Given the description of an element on the screen output the (x, y) to click on. 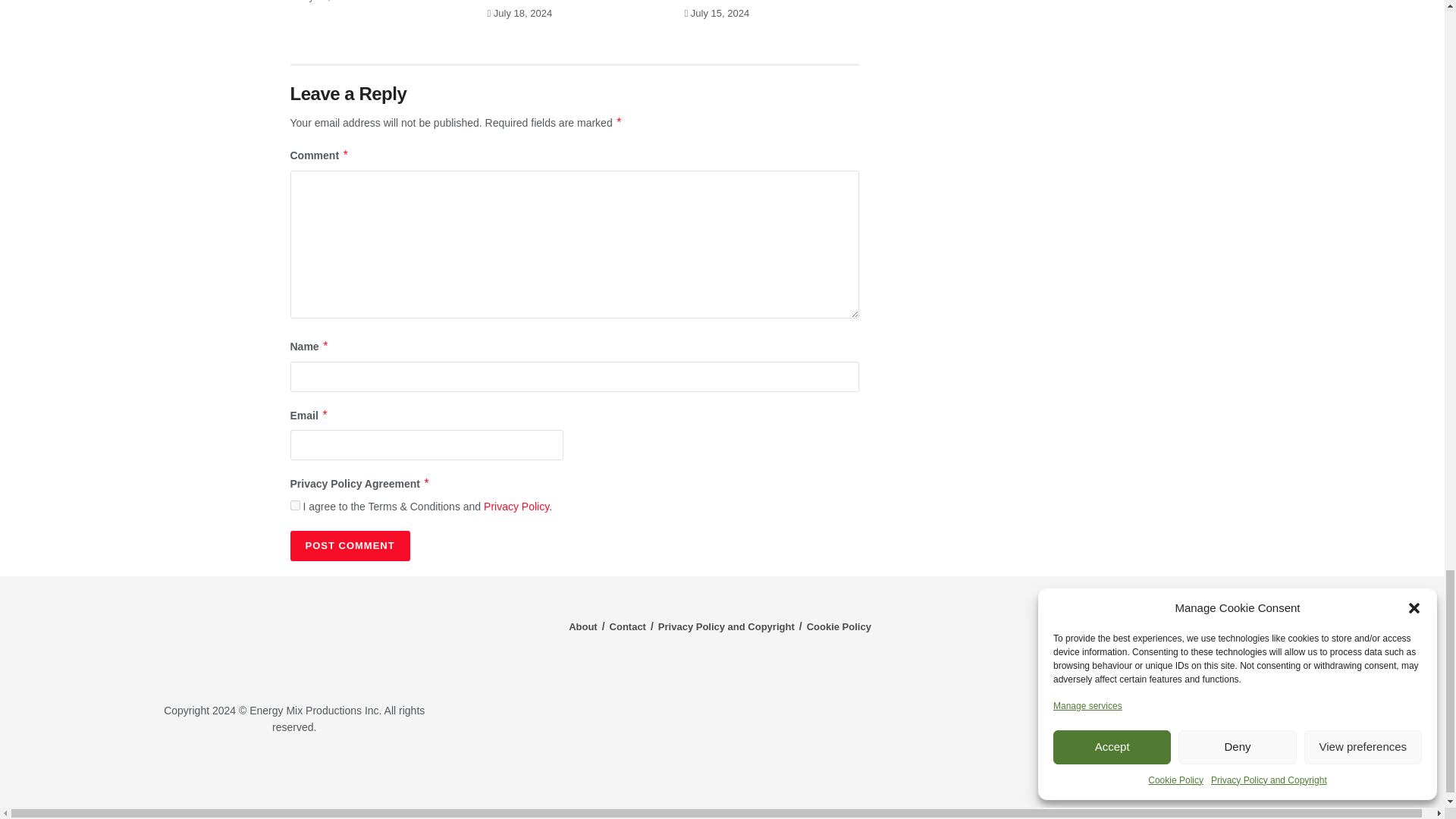
Post Comment (349, 545)
tem-logo-2024 (294, 640)
Climate-and-Capital (1221, 772)
on (294, 505)
